Given the description of an element on the screen output the (x, y) to click on. 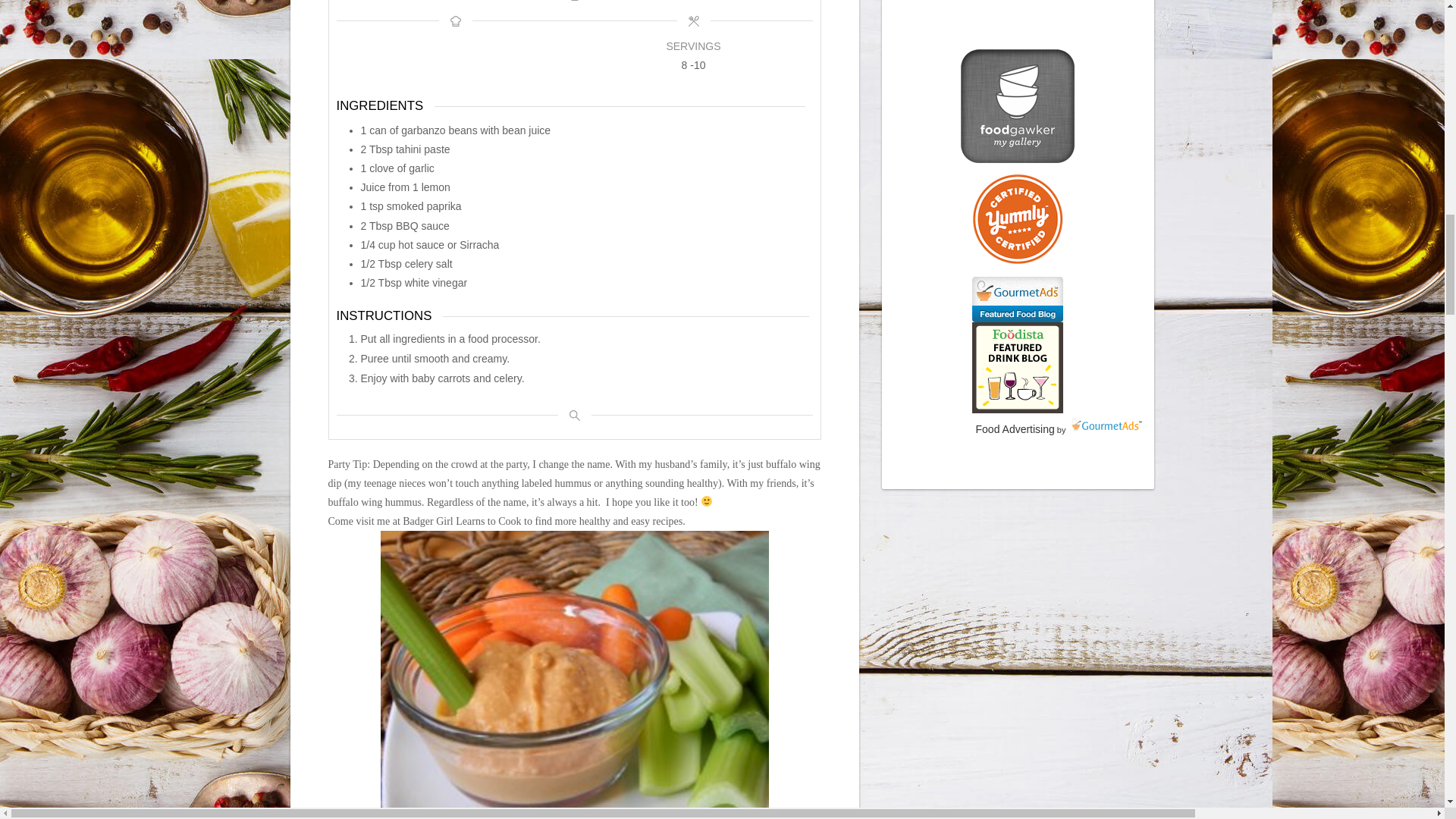
Badger Girl Learns to Cook (462, 521)
bbq hummus 1 (574, 674)
